Given the description of an element on the screen output the (x, y) to click on. 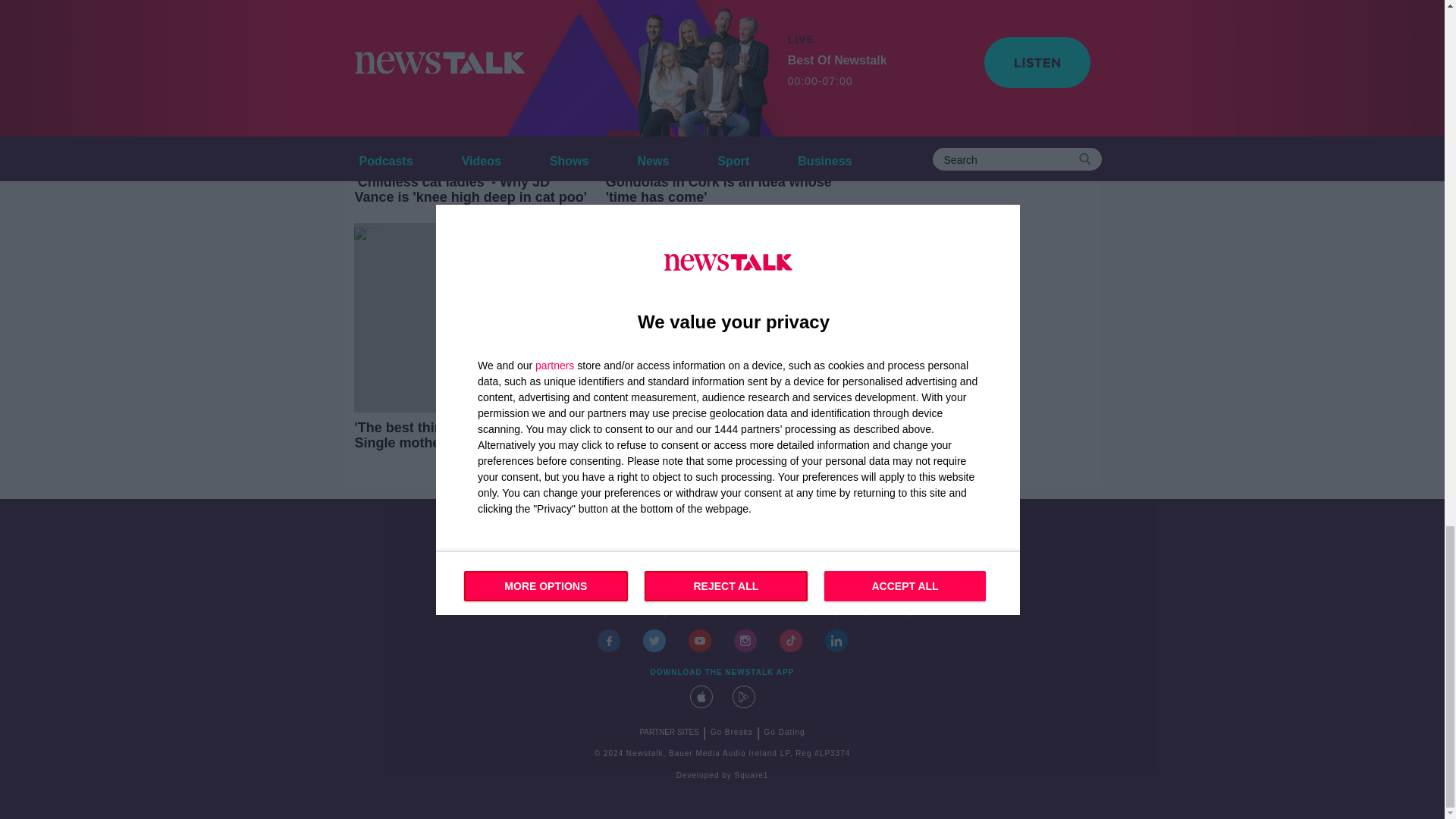
site terms (772, 612)
Privacy (897, 612)
advertising (644, 612)
competitions (708, 612)
contact (547, 612)
events (592, 612)
Privacy Policy (838, 612)
